Given the description of an element on the screen output the (x, y) to click on. 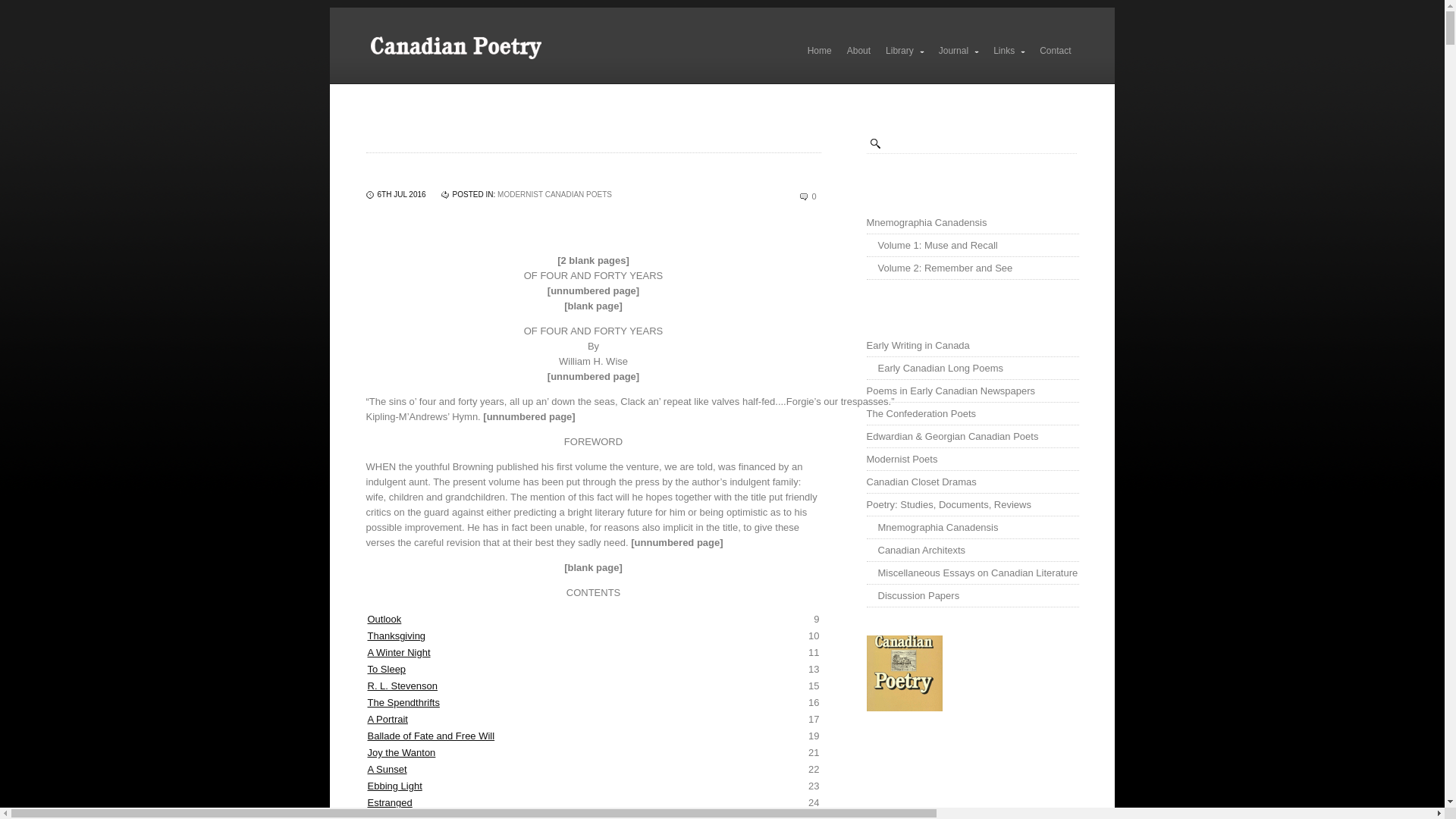
Links (1008, 50)
Early Writing in Canada (972, 344)
Mnemographia Canadensis (972, 222)
Volume 1: Muse and Recall (972, 245)
Canadian Closet Dramas (972, 481)
Volume 2: Remember and See (972, 268)
Poetry: Studies, Documents, Reviews (972, 504)
The Confederation Poets (972, 413)
Mnemographia Canadensis (972, 526)
Library (904, 50)
Early Canadian Long Poems (972, 367)
Contact (1055, 50)
Poems in Early Canadian Newspapers (972, 390)
Modernist Poets (972, 458)
Home (819, 50)
